Given the description of an element on the screen output the (x, y) to click on. 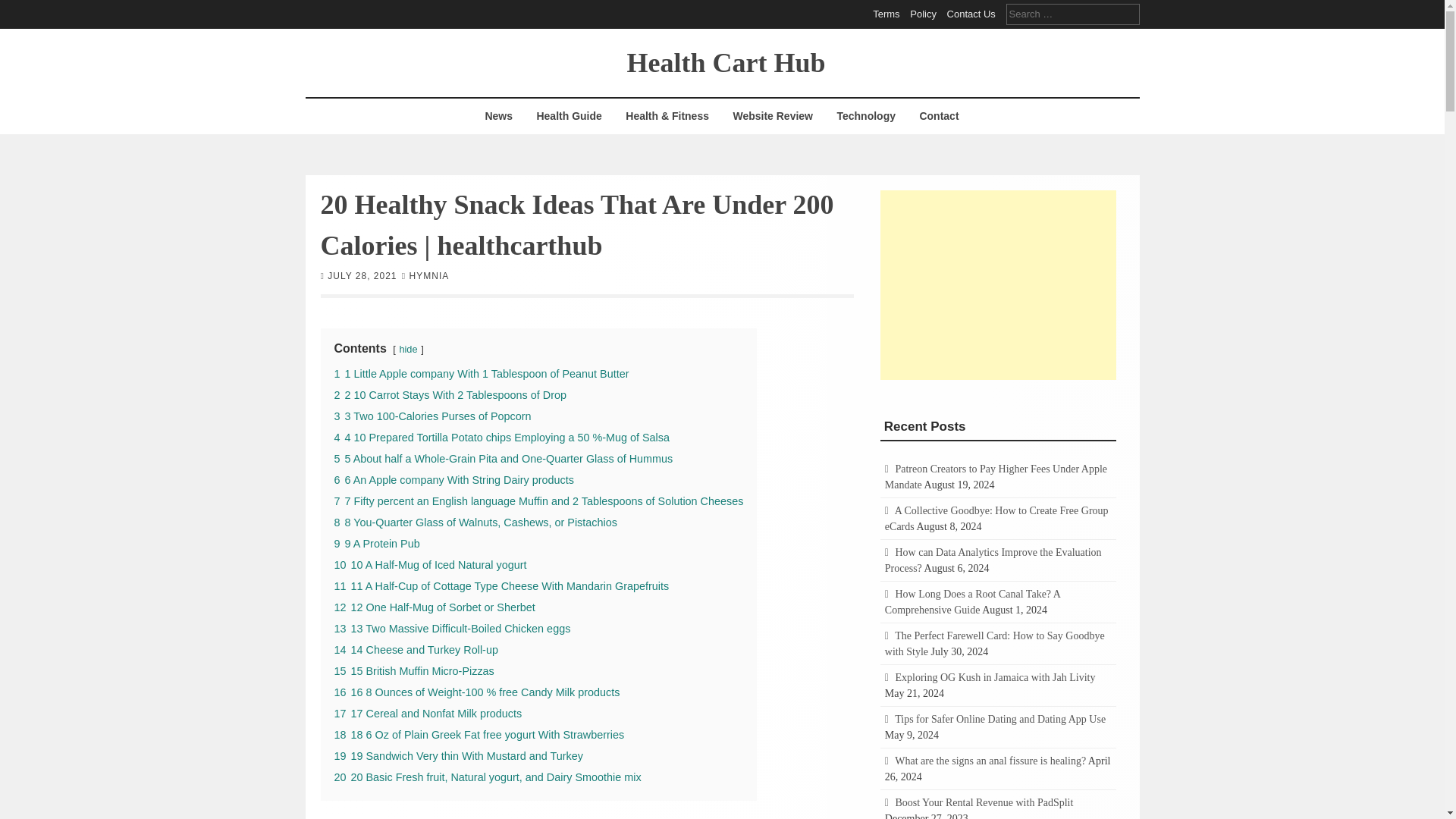
hide (407, 348)
17 17 Cereal and Nonfat Milk products (427, 712)
9 9 A Protein Pub (376, 542)
13 13 Two Massive Difficult-Boiled Chicken eggs (451, 627)
3 3 Two 100-Calories Purses of Popcorn (432, 415)
JULY 28, 2021 (361, 275)
Contact (938, 116)
Health Guide (568, 116)
Health Cart Hub (725, 61)
